Given the description of an element on the screen output the (x, y) to click on. 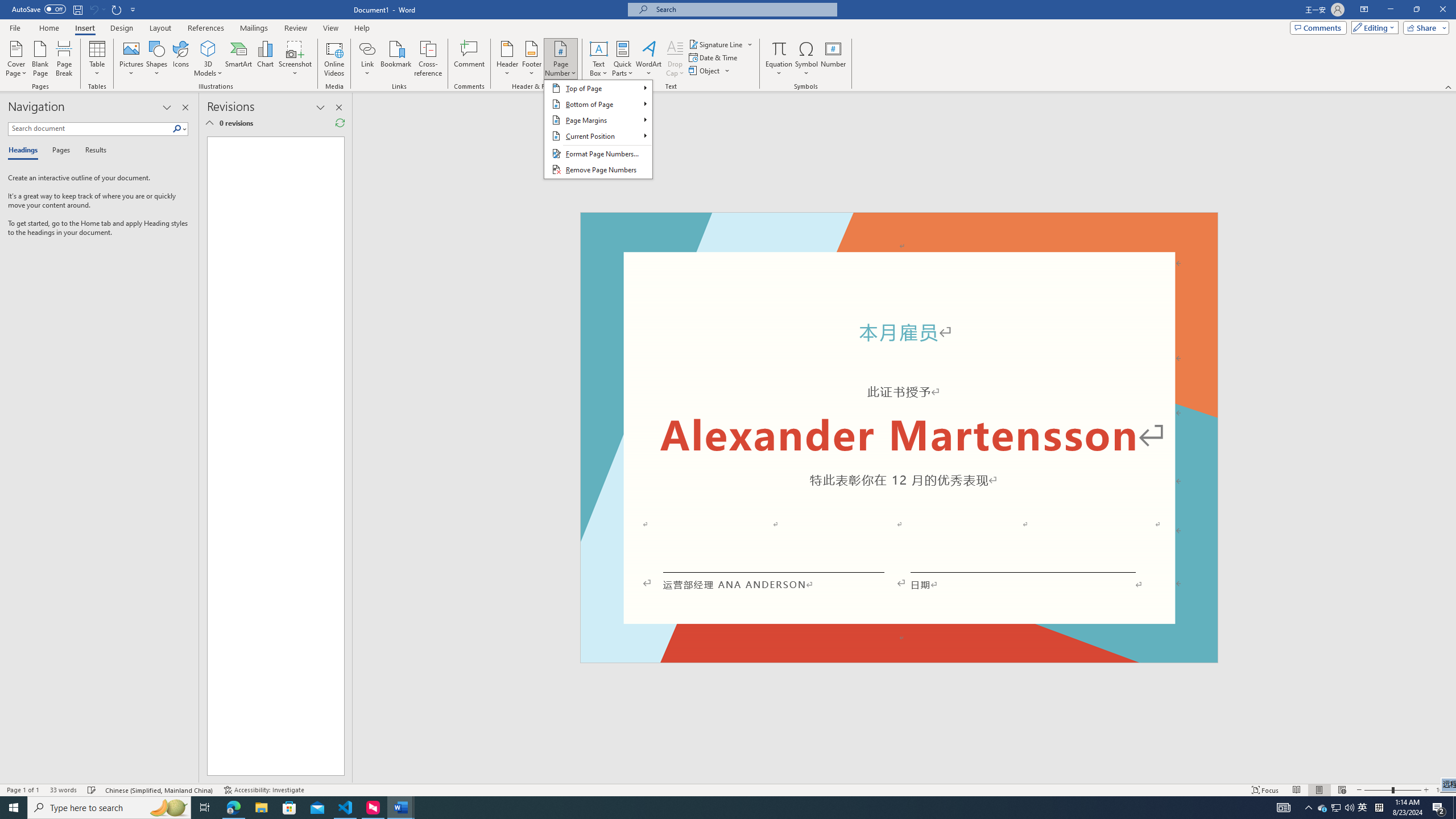
Notification Chevron (1308, 807)
Object... (709, 69)
Chart... (265, 58)
Page Number Page 1 of 1 (22, 790)
Pictures (131, 58)
3D Models (208, 48)
